Given the description of an element on the screen output the (x, y) to click on. 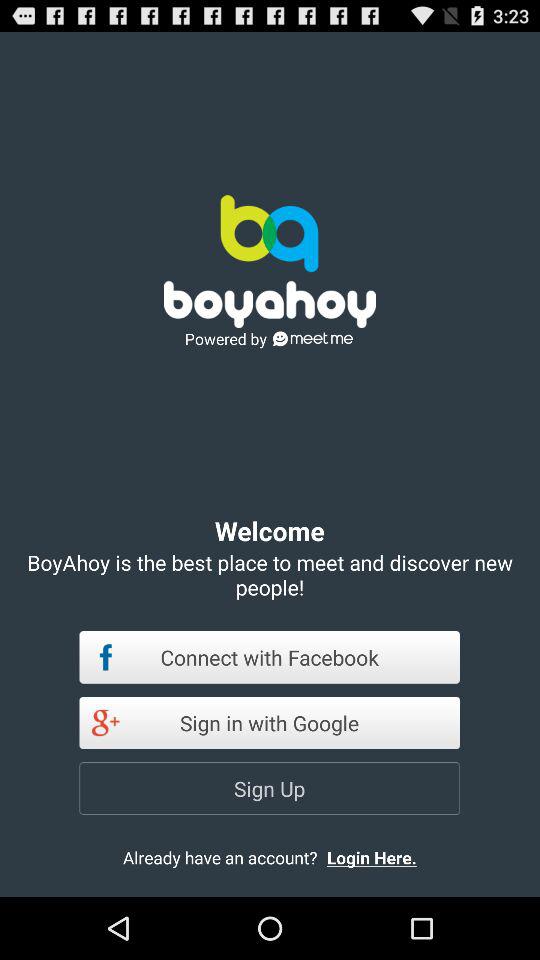
open icon below the sign up (388, 857)
